Given the description of an element on the screen output the (x, y) to click on. 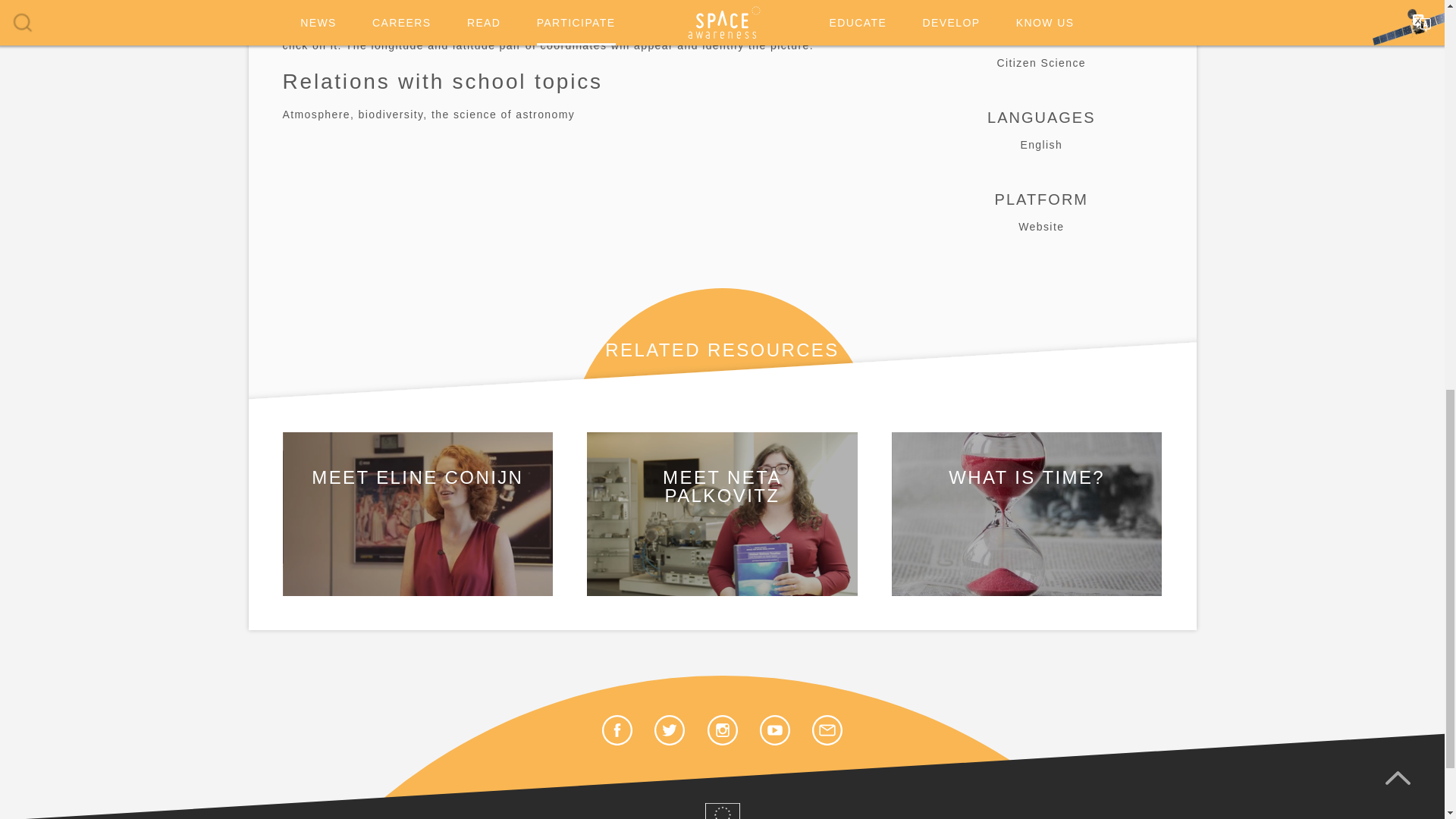
WHAT IS TIME? (1026, 514)
MEET NETA PALKOVITZ (721, 514)
MEET ELINE CONIJN (417, 514)
